Given the description of an element on the screen output the (x, y) to click on. 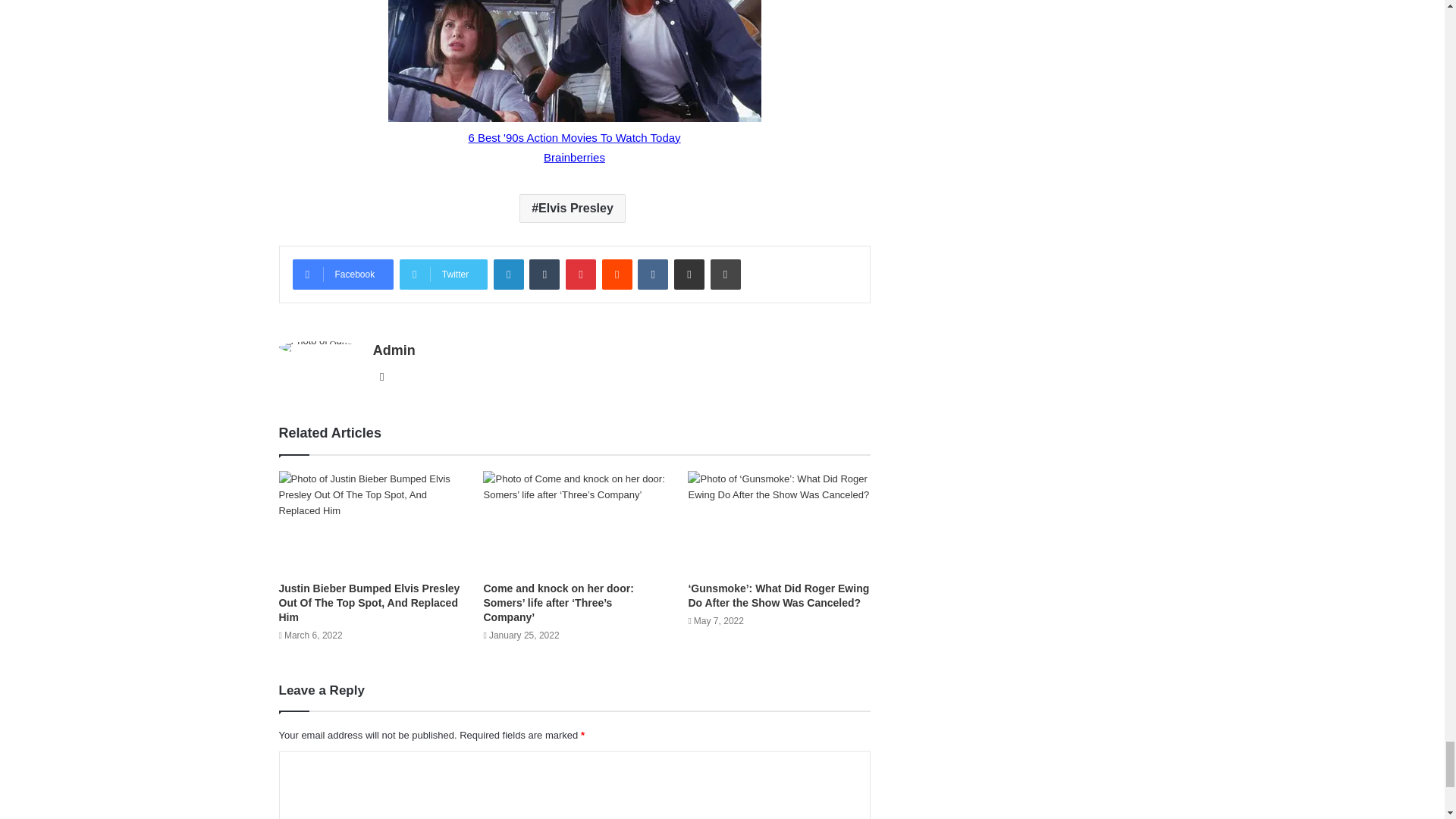
Share via Email (689, 274)
Tumblr (544, 274)
Twitter (442, 274)
Elvis Presley (572, 208)
Tumblr (544, 274)
Reddit (616, 274)
Print (725, 274)
Pinterest (580, 274)
Reddit (616, 274)
VKontakte (652, 274)
Facebook (343, 274)
VKontakte (652, 274)
LinkedIn (508, 274)
Share via Email (689, 274)
